Given the description of an element on the screen output the (x, y) to click on. 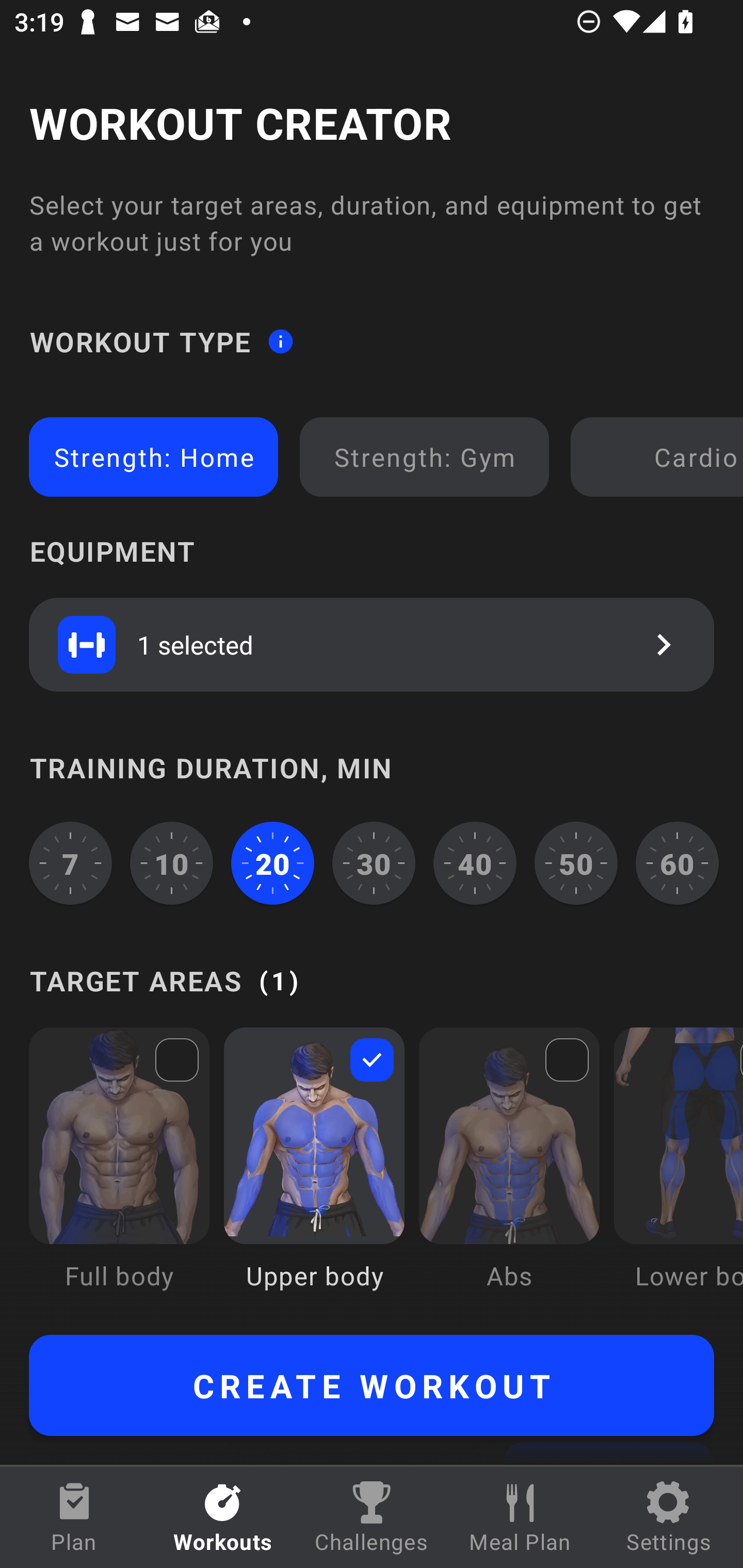
Workout type information button (280, 340)
Strength: Gym (423, 457)
Cardio (660, 457)
1 selected (371, 644)
7 (70, 862)
10 (171, 862)
20 (272, 862)
30 (373, 862)
40 (474, 862)
50 (575, 862)
60 (676, 862)
Full body (118, 1172)
Abs (509, 1172)
Lower body (678, 1172)
CREATE WORKOUT (371, 1385)
 Plan  (74, 1517)
 Challenges  (371, 1517)
 Meal Plan  (519, 1517)
 Settings  (668, 1517)
